Given the description of an element on the screen output the (x, y) to click on. 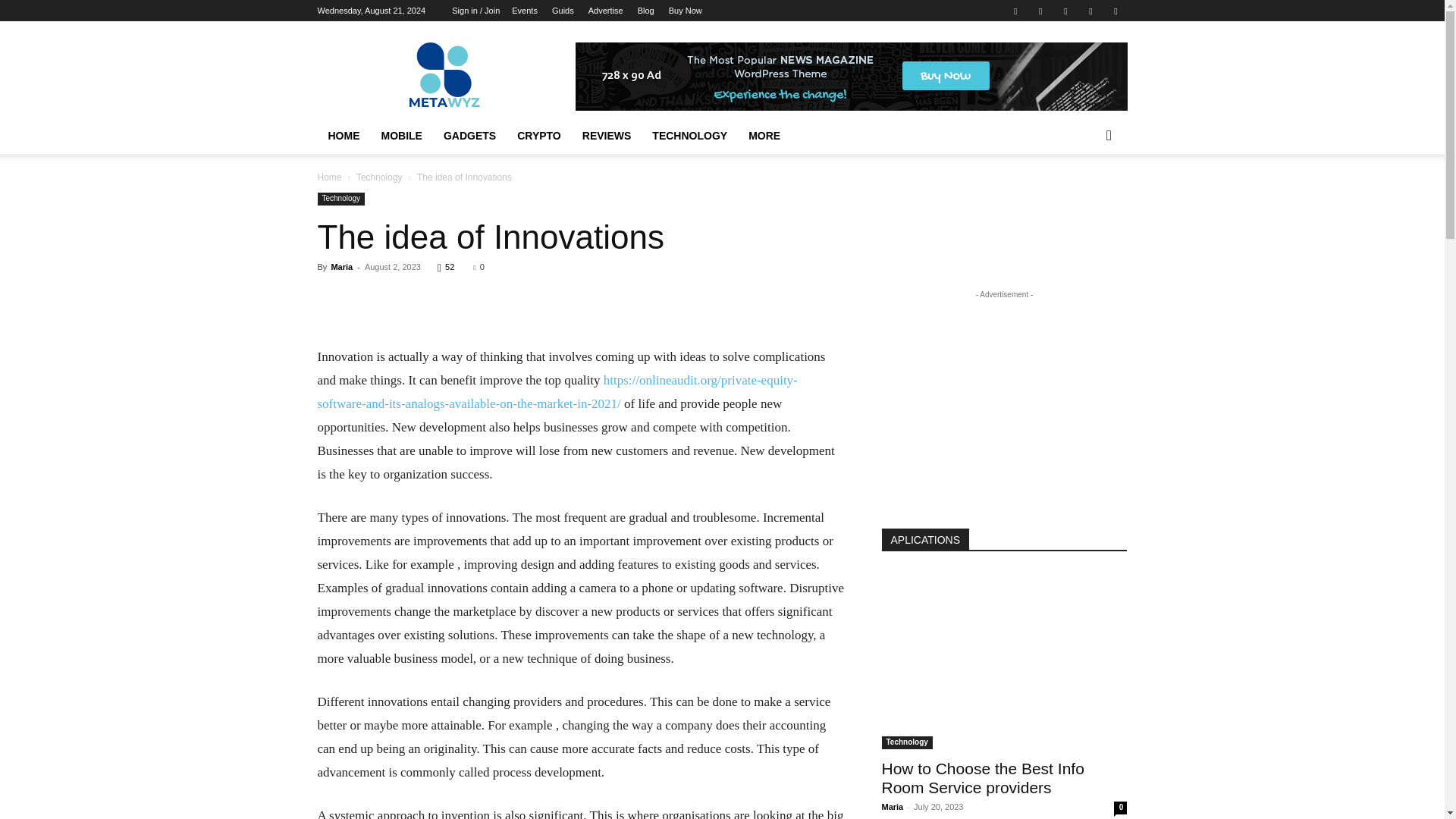
Blog (645, 10)
Events (524, 10)
Facebook (1015, 10)
Vimeo (1065, 10)
Buy Now (684, 10)
Twitter (1040, 10)
VKontakte (1090, 10)
Advertise (605, 10)
Youtube (1114, 10)
Guids (562, 10)
